Given the description of an element on the screen output the (x, y) to click on. 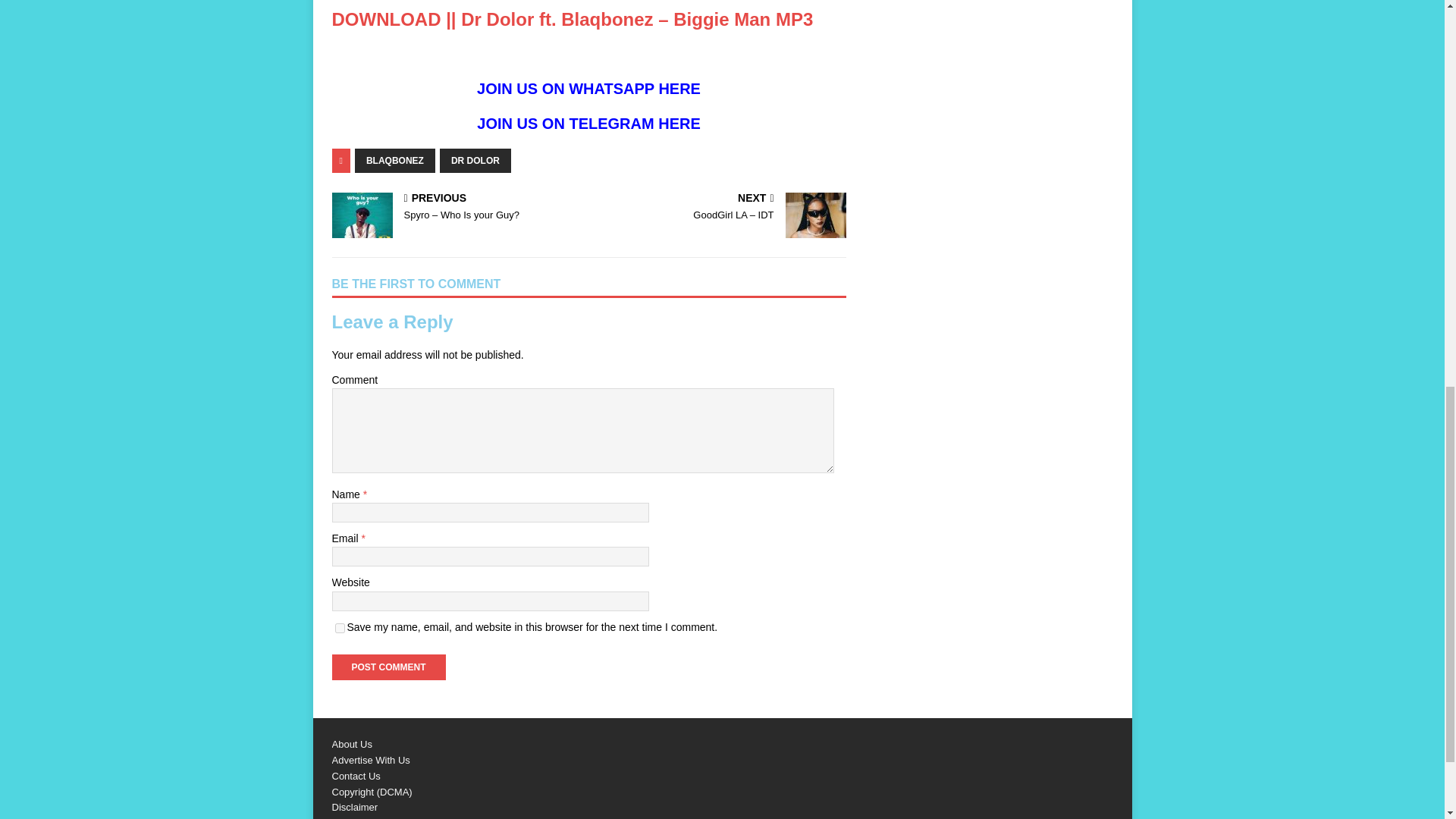
yes (339, 628)
JOIN US ON WHATSAPP HERE (588, 88)
JOIN US ON TELEGRAM HERE (588, 123)
Post Comment (388, 667)
